Given the description of an element on the screen output the (x, y) to click on. 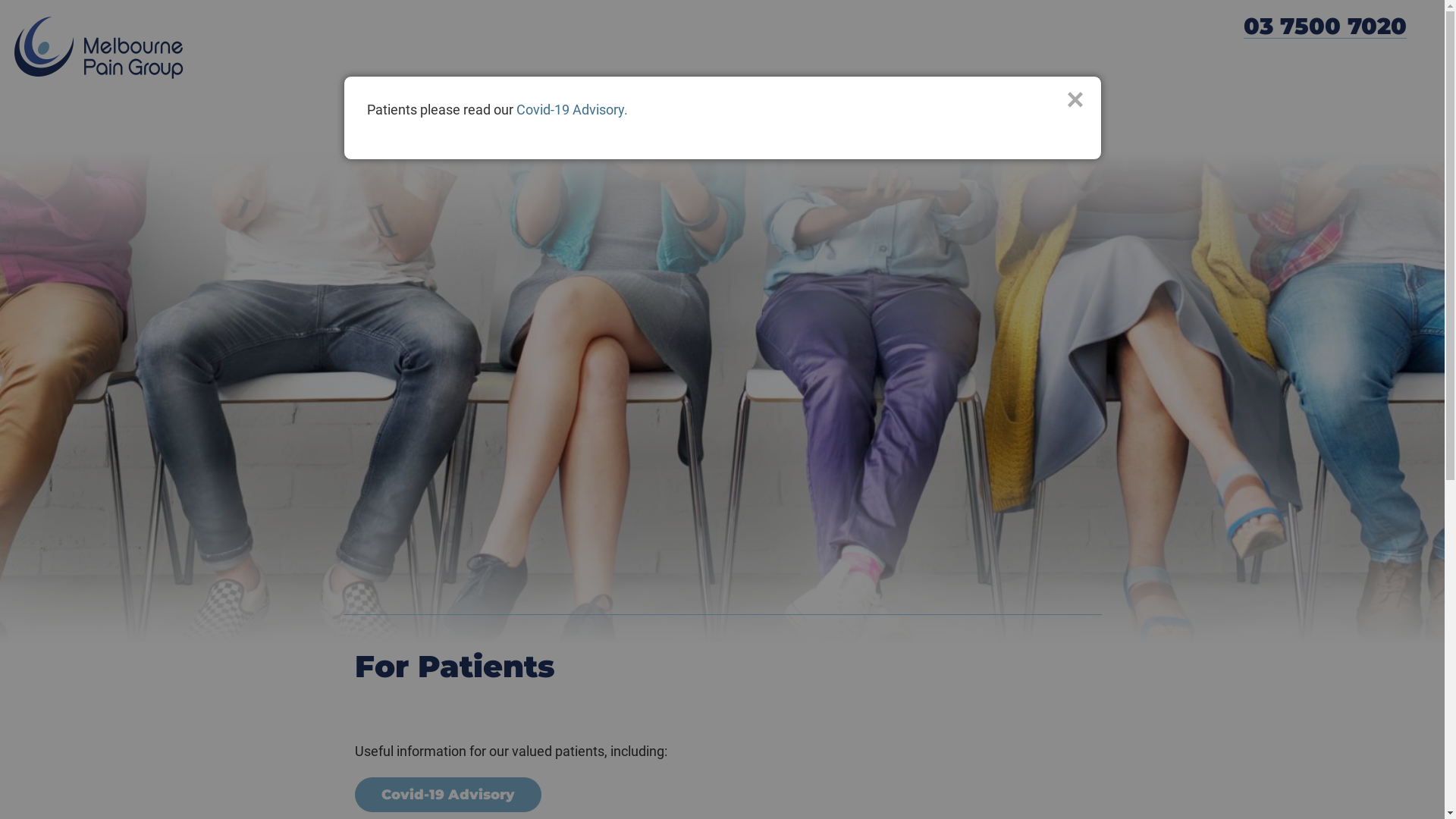
Covid-19 Advisory. Element type: text (571, 109)
For Patients Element type: text (831, 133)
Treatments Element type: text (651, 133)
Skip to main content Element type: text (54, 0)
Home Element type: text (358, 133)
Contact Element type: text (1064, 133)
Covid-19 Advisory Element type: text (447, 794)
Conditions Element type: text (571, 133)
03 7500 7020 Element type: text (1324, 26)
Locations Element type: text (995, 133)
About Element type: text (411, 133)
For Doctors Element type: text (916, 133)
Medico-Legal Element type: text (484, 133)
Appointments Element type: text (740, 133)
